Given the description of an element on the screen output the (x, y) to click on. 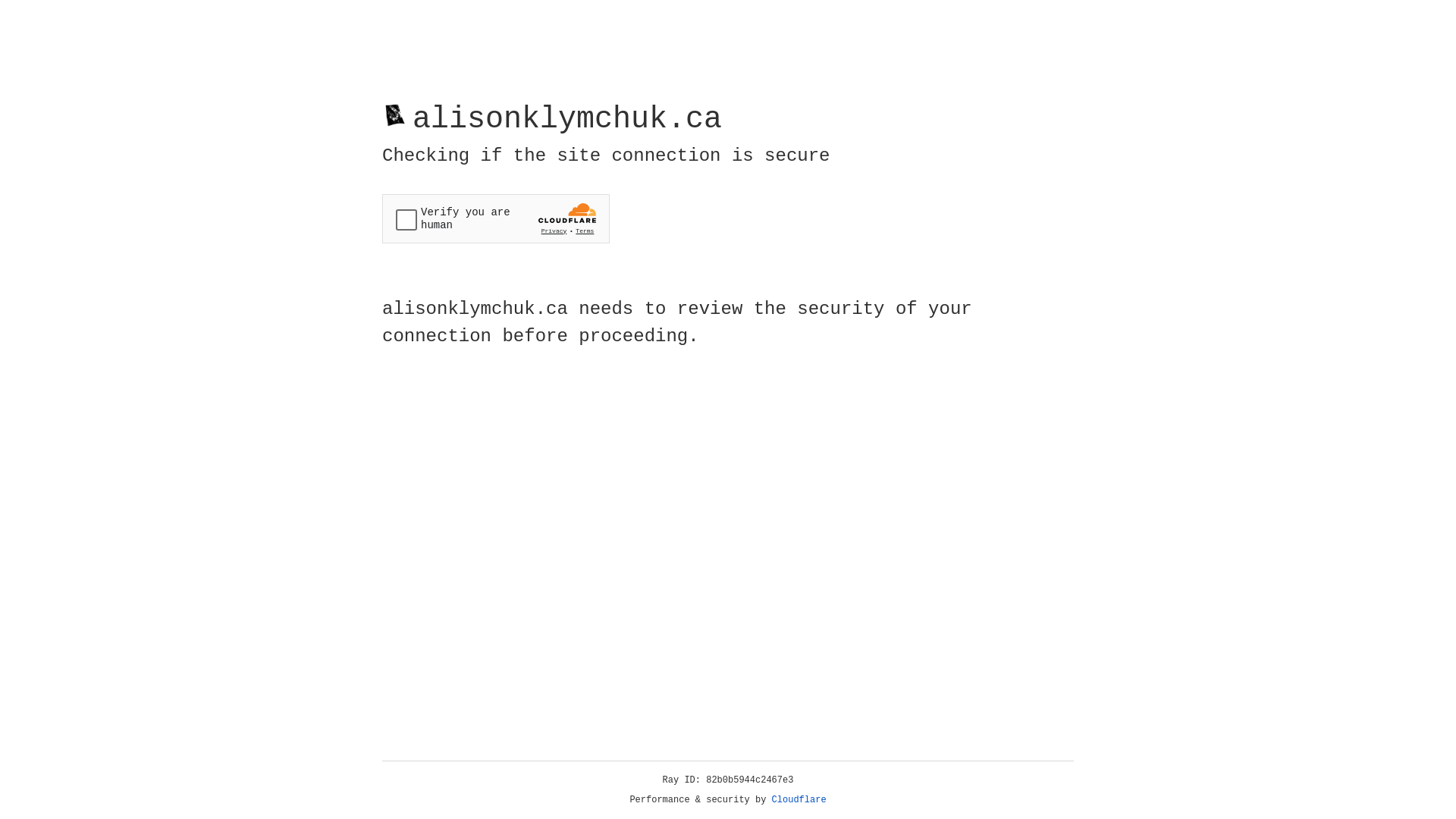
Widget containing a Cloudflare security challenge Element type: hover (495, 218)
Cloudflare Element type: text (798, 799)
